Given the description of an element on the screen output the (x, y) to click on. 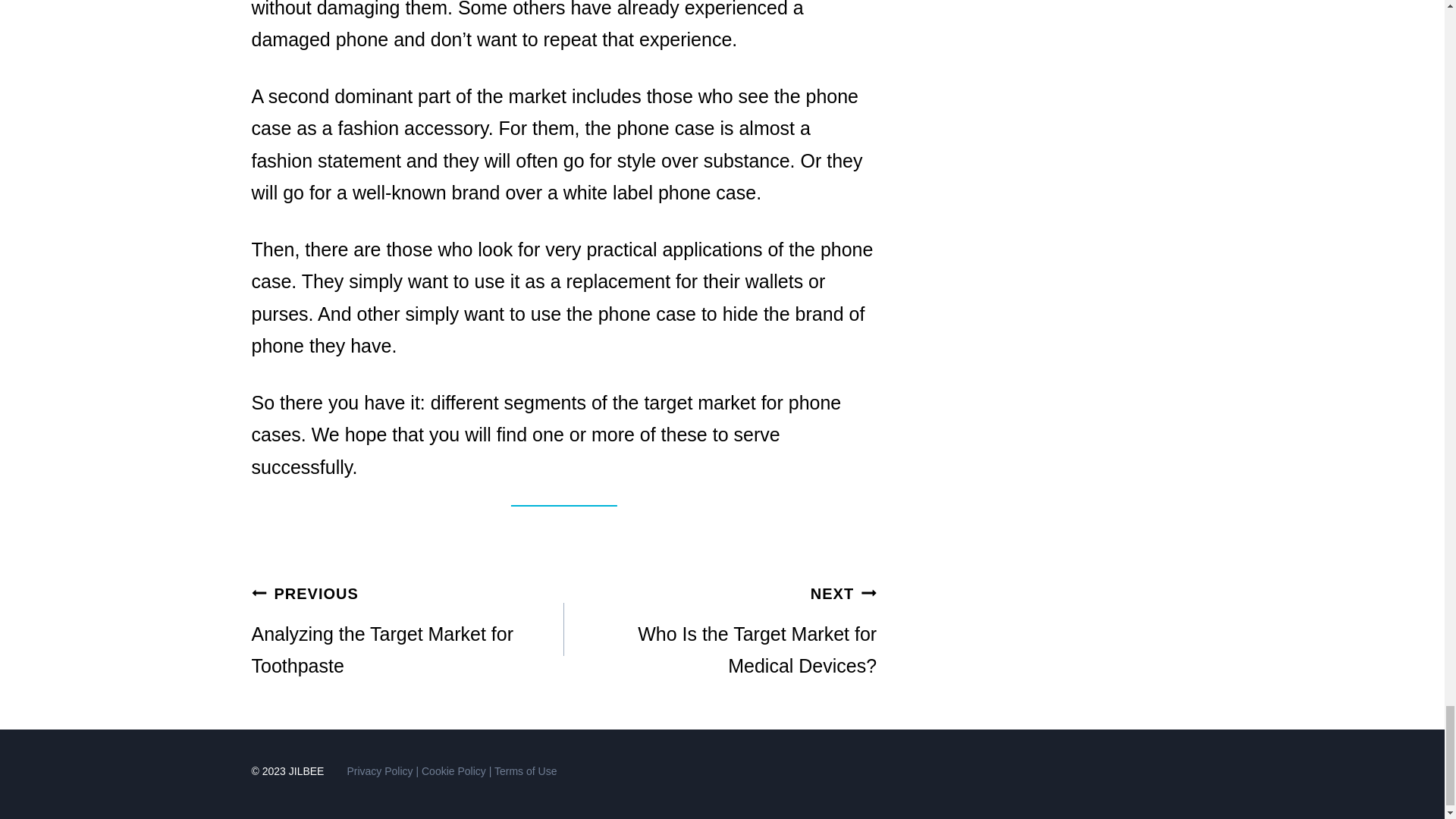
Privacy Policy (379, 770)
Terms of Use (407, 629)
Cookie Policy (525, 770)
